Given the description of an element on the screen output the (x, y) to click on. 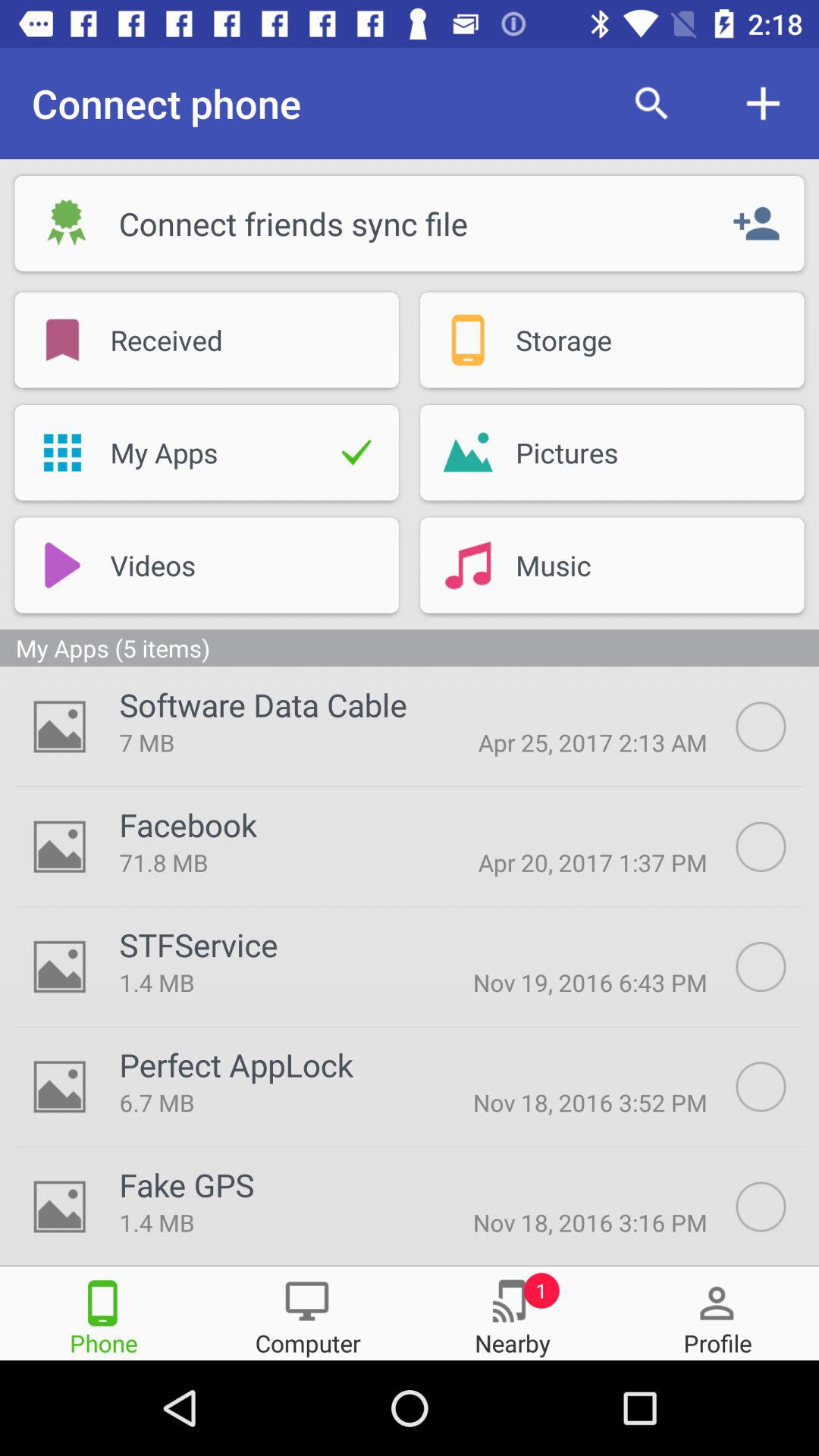
scroll until the software data cable icon (263, 704)
